Given the description of an element on the screen output the (x, y) to click on. 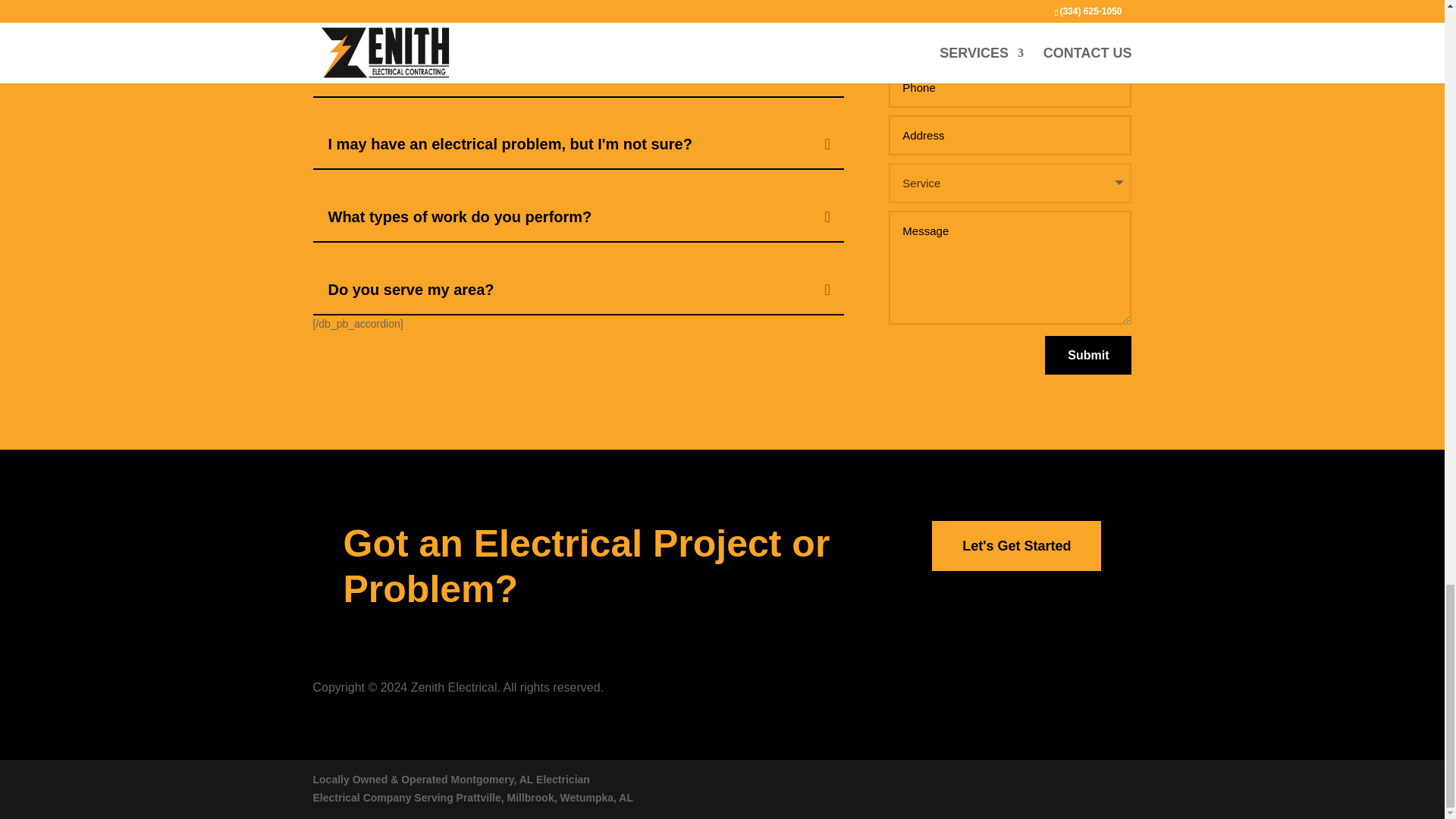
Let's Get Started (1015, 545)
Submit (1088, 354)
